Given the description of an element on the screen output the (x, y) to click on. 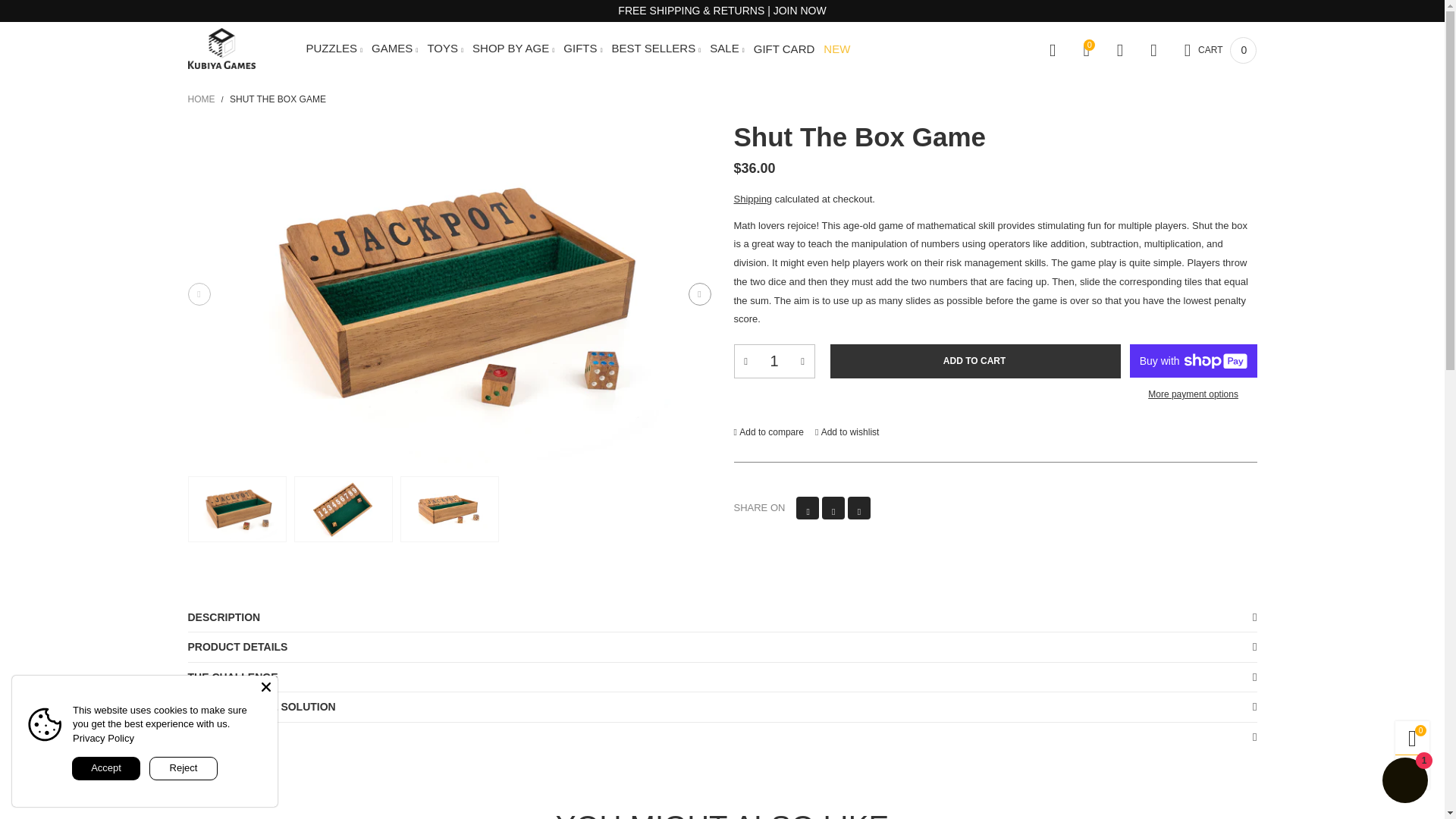
Privacy Policy (102, 737)
PUZZLES (333, 49)
Puzzles (333, 49)
1 (773, 360)
Kubiya Games (221, 47)
